Given the description of an element on the screen output the (x, y) to click on. 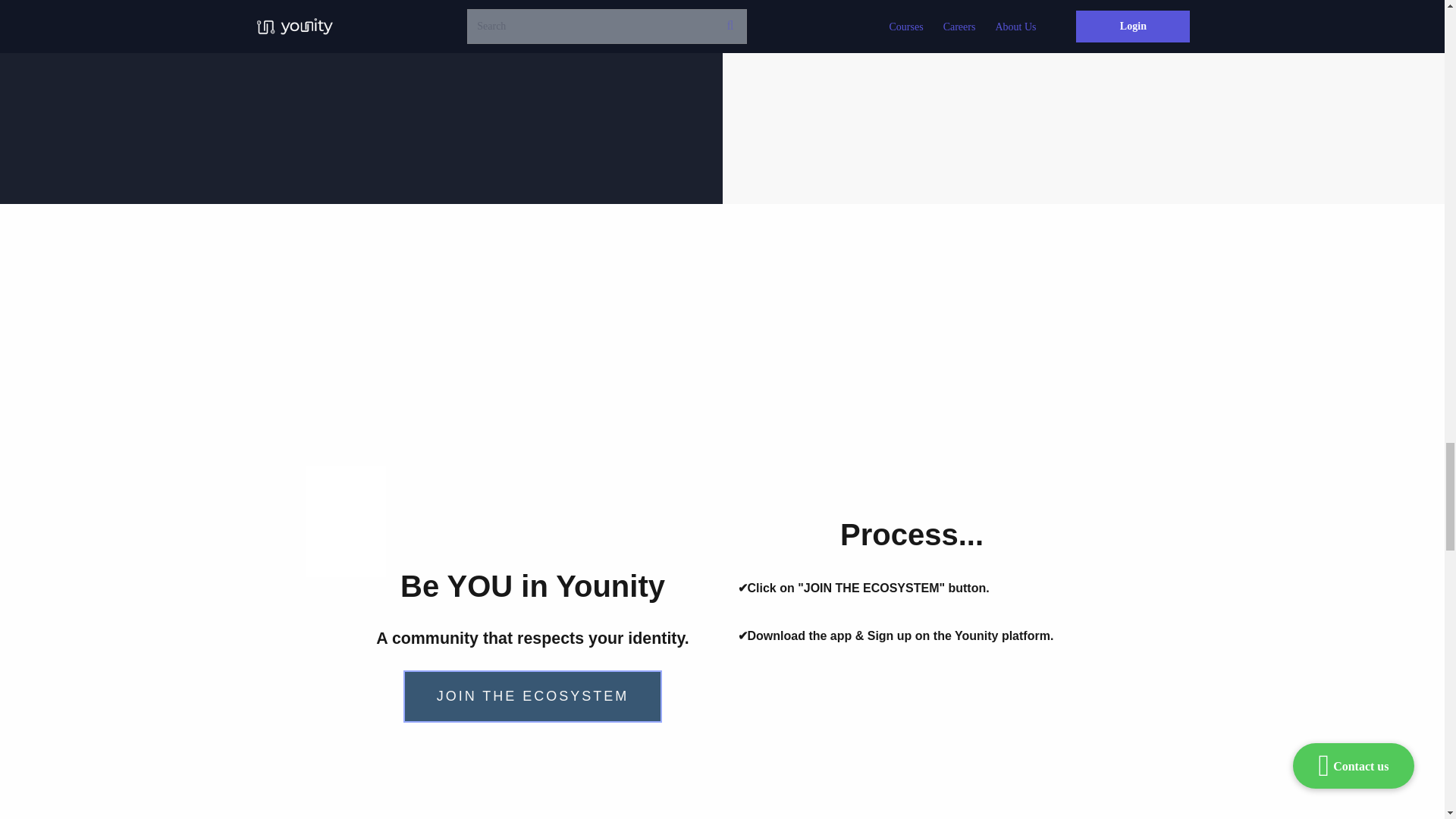
JOIN THE ECOSYSTEM (532, 696)
